Given the description of an element on the screen output the (x, y) to click on. 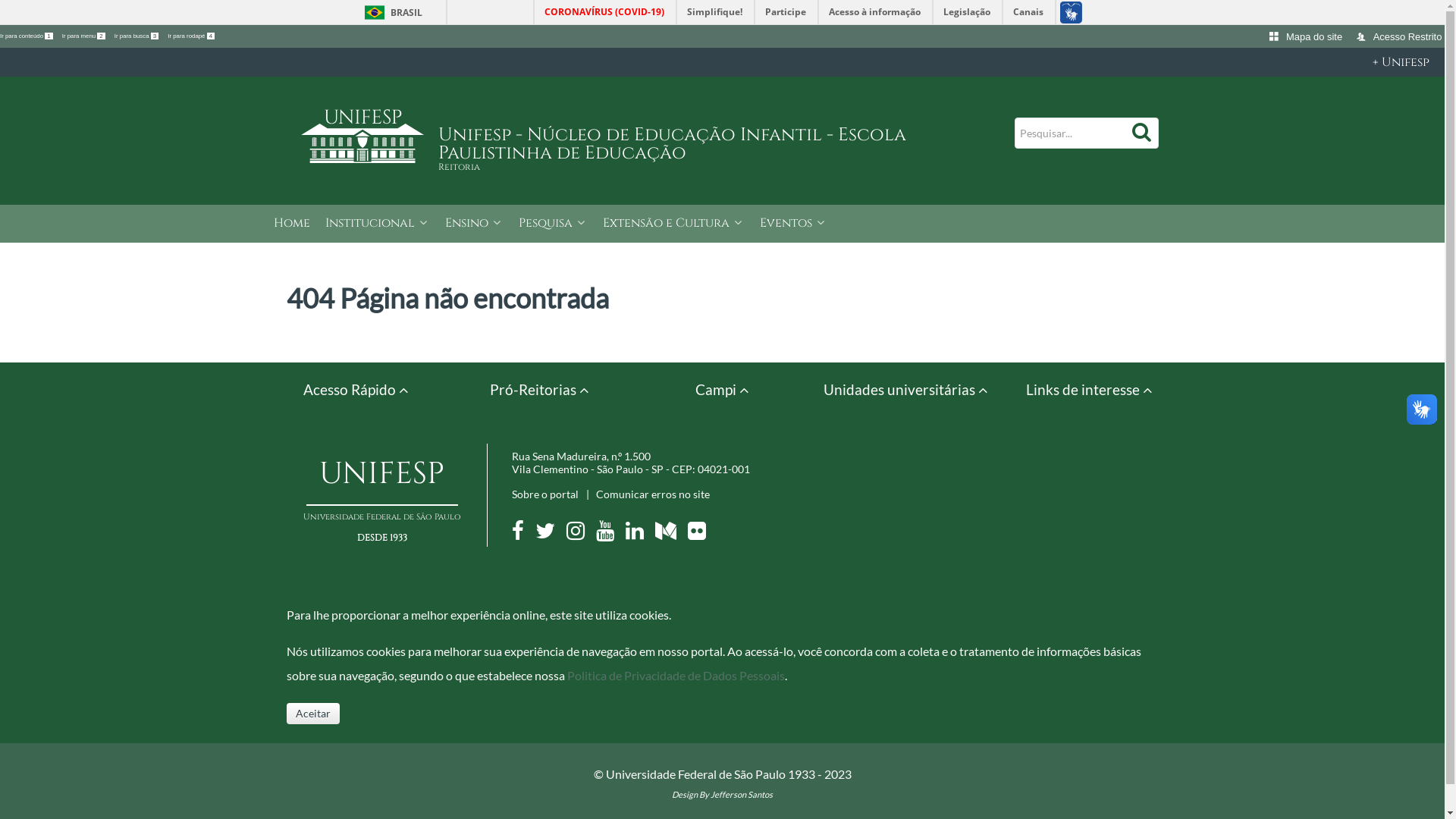
Pesquisa Element type: text (552, 224)
Ensino Element type: text (473, 224)
Ir para busca 3 Element type: text (137, 35)
Facebook Unifesp Element type: hover (521, 533)
+ Unifesp Element type: text (722, 61)
Instagram Unifesp Element type: hover (579, 533)
Comunicar erros no site Element type: text (652, 493)
 Mapa do site  Element type: text (1307, 36)
Ir para menu 2 Element type: text (84, 35)
BRASIL Element type: text (389, 12)
Twitter Oficial Element type: hover (549, 533)
Home Element type: text (291, 224)
Sobre o portal Element type: text (544, 493)
Institucional Element type: text (376, 224)
Medium Unifesp Element type: hover (670, 533)
on Element type: text (4, 4)
Linkedin Unifesp Element type: hover (638, 533)
Politica de Privacidade de Dados Pessoais Element type: text (675, 675)
Youtube Unifesp Element type: hover (609, 533)
 Acesso Restrito  Element type: text (1399, 36)
Flickr Unifesp Element type: hover (700, 533)
